Given the description of an element on the screen output the (x, y) to click on. 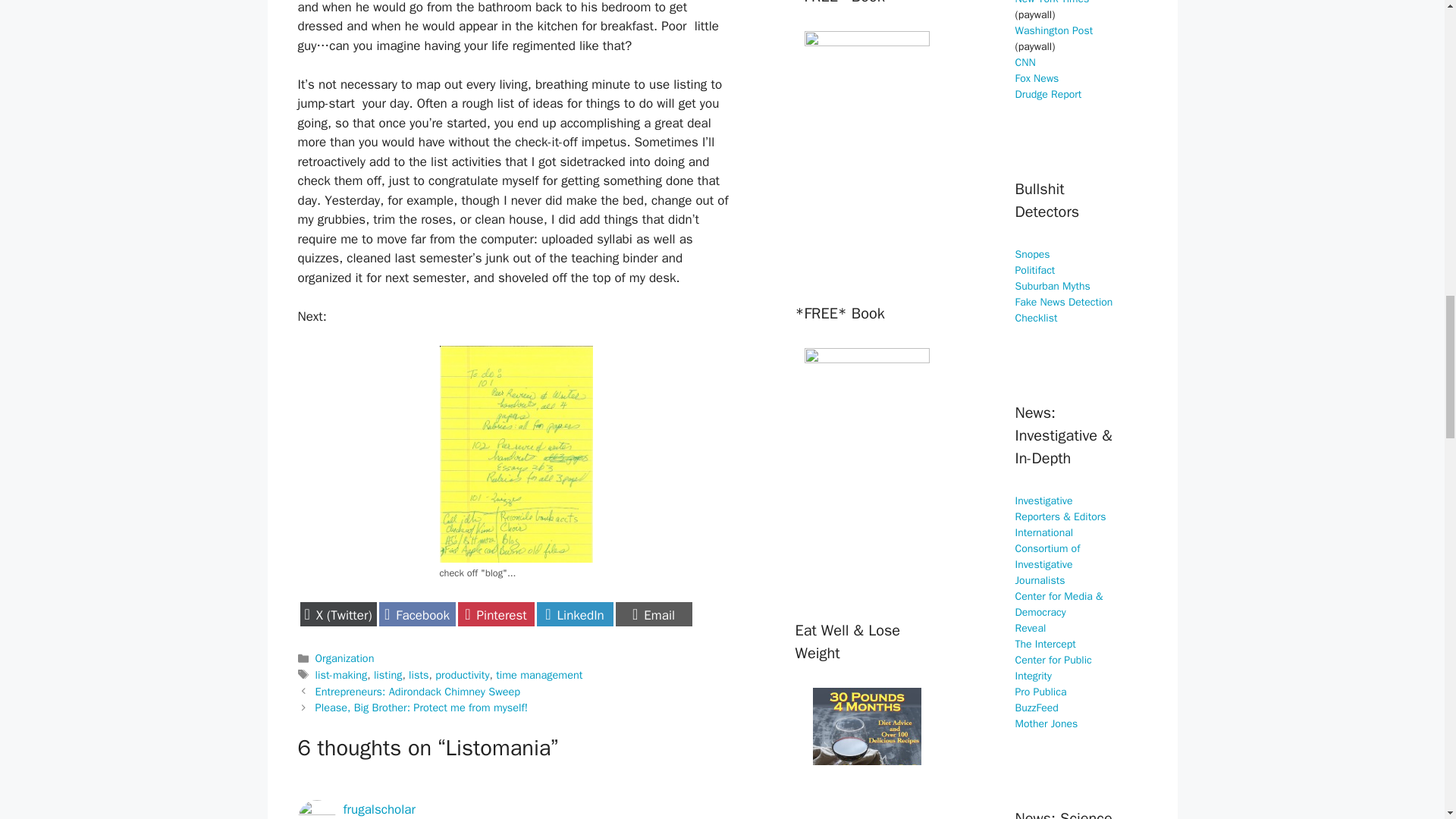
frugalscholar (378, 809)
time management (539, 674)
productivity (574, 613)
Organization (496, 613)
list-making (462, 674)
Please, Big Brother: Protect me from myself! (344, 658)
listing (341, 674)
